Given the description of an element on the screen output the (x, y) to click on. 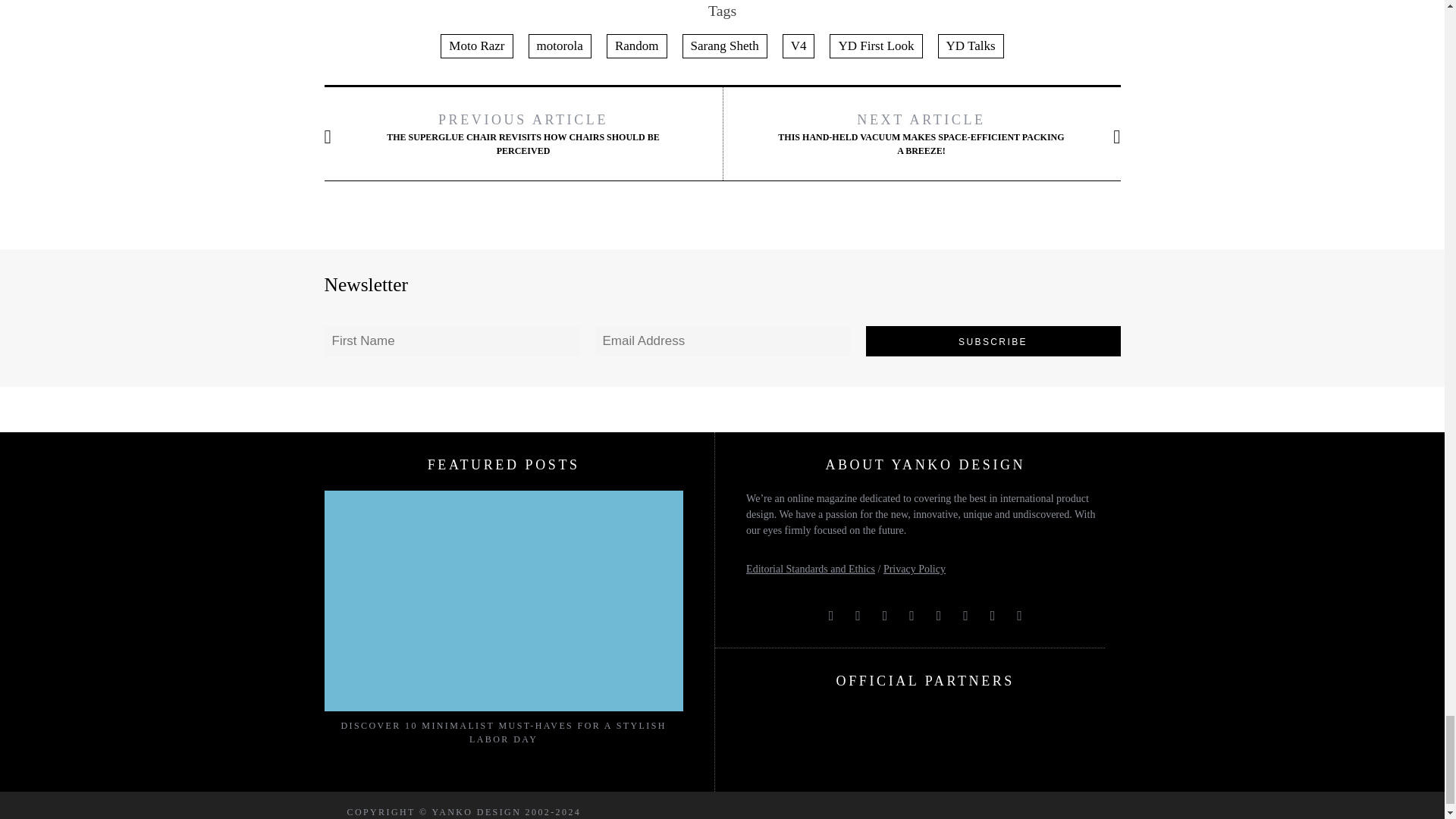
Editorial Standards and Ethics (810, 568)
Subscribe (993, 340)
Privacy Policy (913, 568)
